Given the description of an element on the screen output the (x, y) to click on. 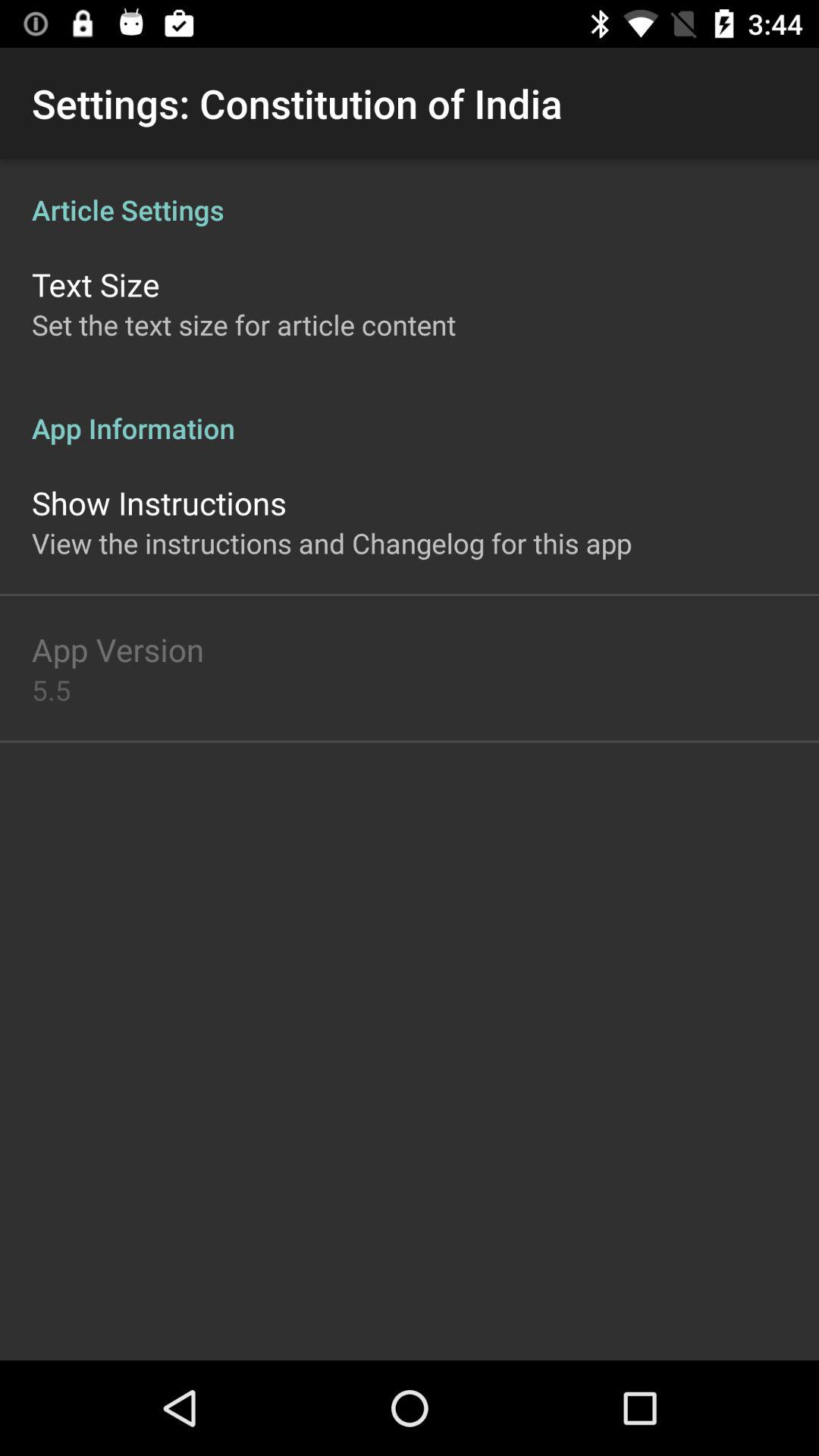
choose the app version (117, 649)
